Given the description of an element on the screen output the (x, y) to click on. 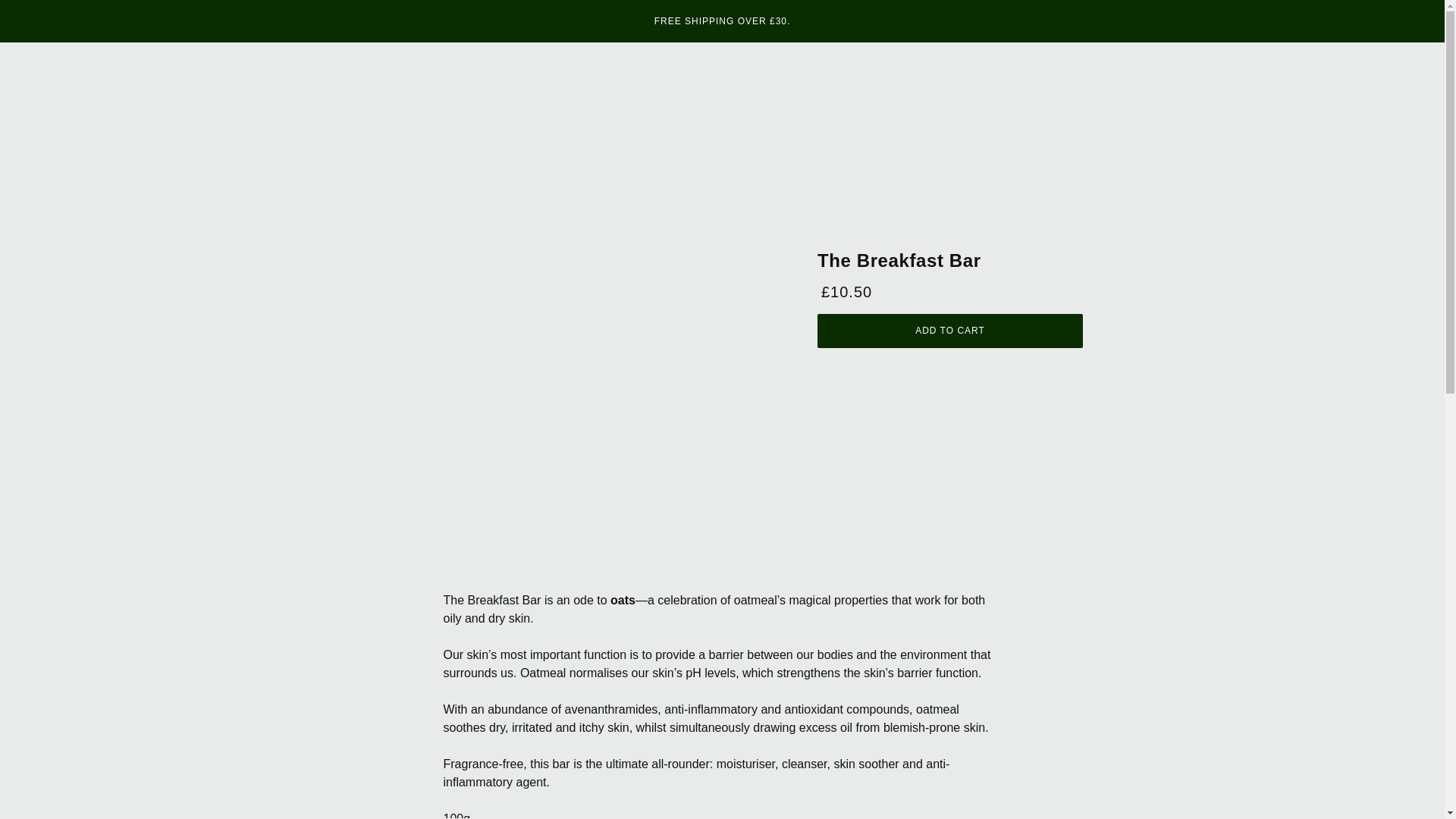
The Breakfast Bar (898, 262)
ADD TO CART (949, 330)
